Given the description of an element on the screen output the (x, y) to click on. 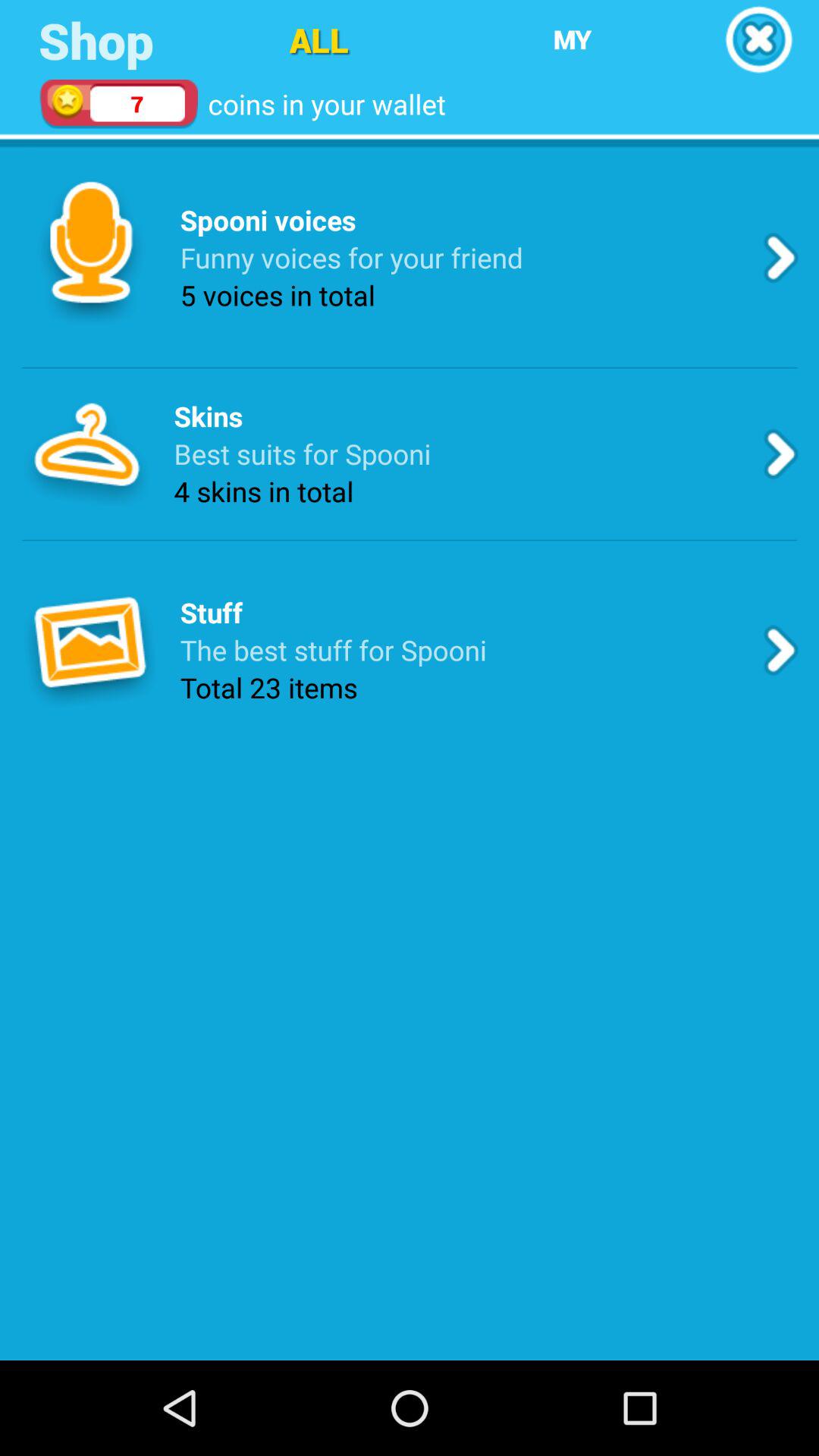
cancel (758, 39)
